Given the description of an element on the screen output the (x, y) to click on. 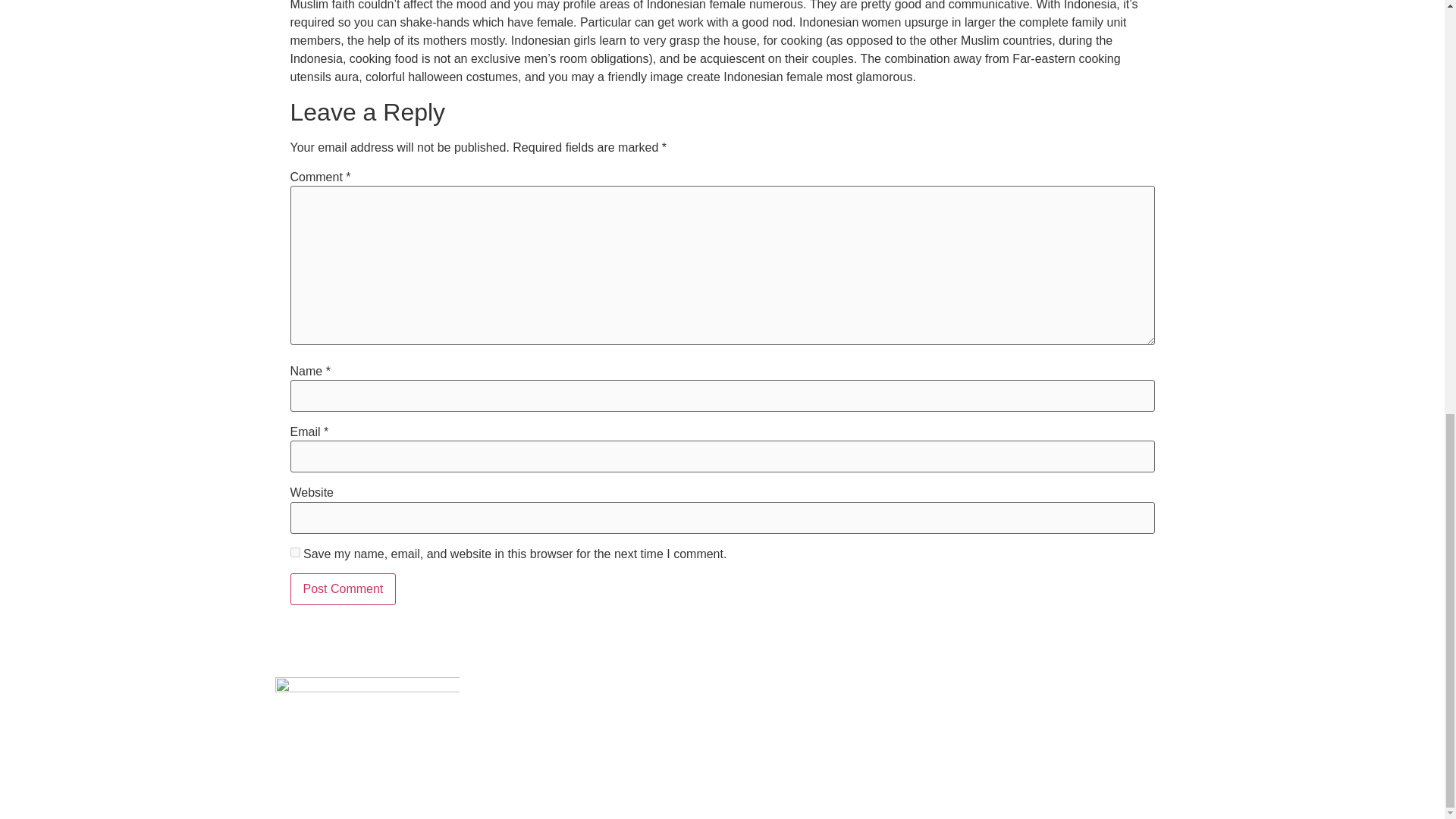
yes (294, 552)
Post Comment (342, 589)
